Given the description of an element on the screen output the (x, y) to click on. 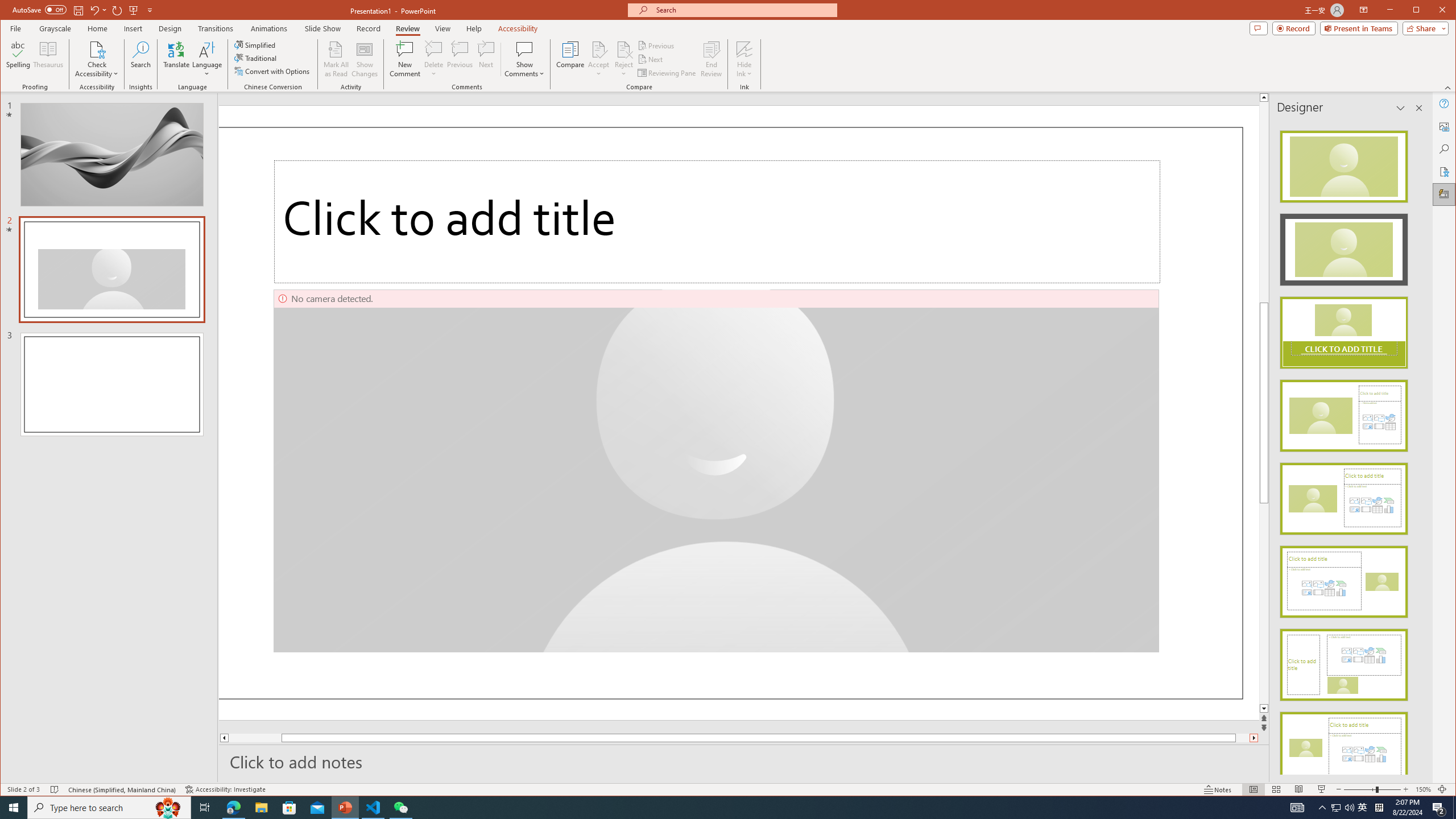
Next (651, 59)
WeChat - 1 running window (400, 807)
Simplified (255, 44)
